Given the description of an element on the screen output the (x, y) to click on. 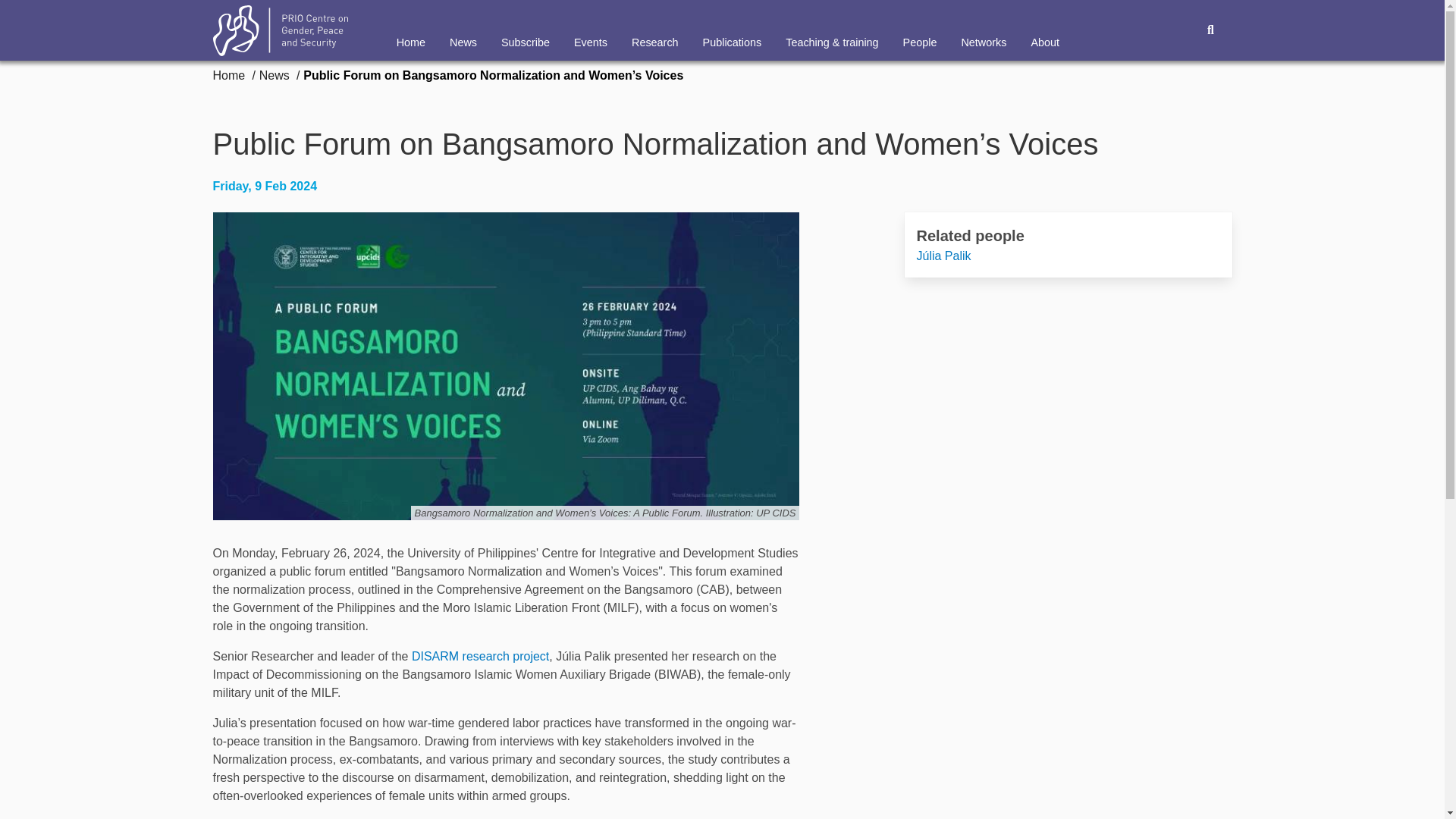
News (275, 74)
Publications (732, 30)
Subscribe (525, 30)
Events (591, 30)
People (920, 30)
Home (229, 74)
Research (655, 30)
Networks (983, 30)
DISARM research project (480, 656)
